Given the description of an element on the screen output the (x, y) to click on. 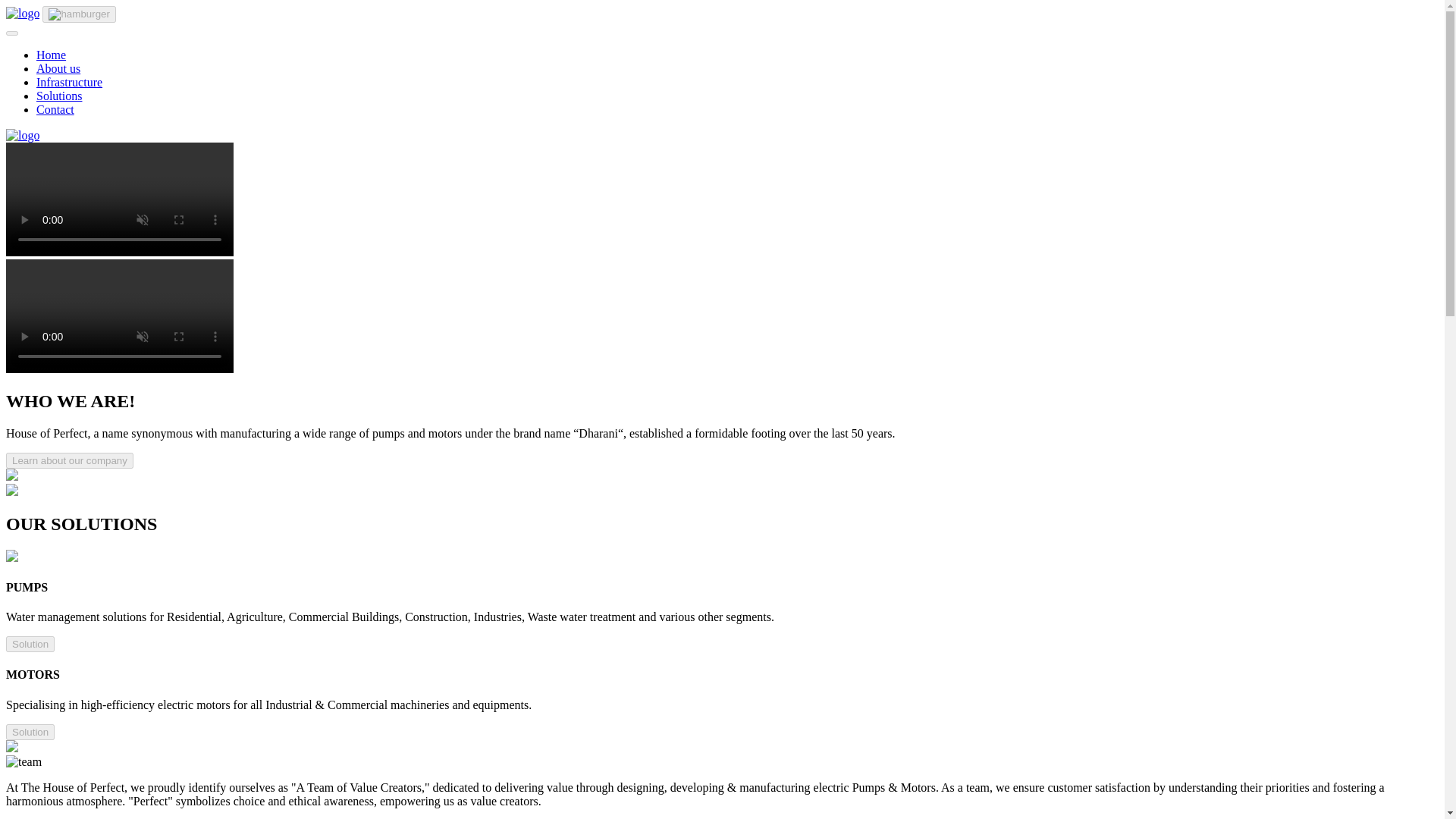
Solutions (58, 95)
Contact (55, 109)
Solution (30, 731)
Infrastructure (68, 82)
About us (58, 68)
Learn about our company (69, 459)
Learn about our company (69, 460)
Solution (30, 643)
Home (50, 54)
